Given the description of an element on the screen output the (x, y) to click on. 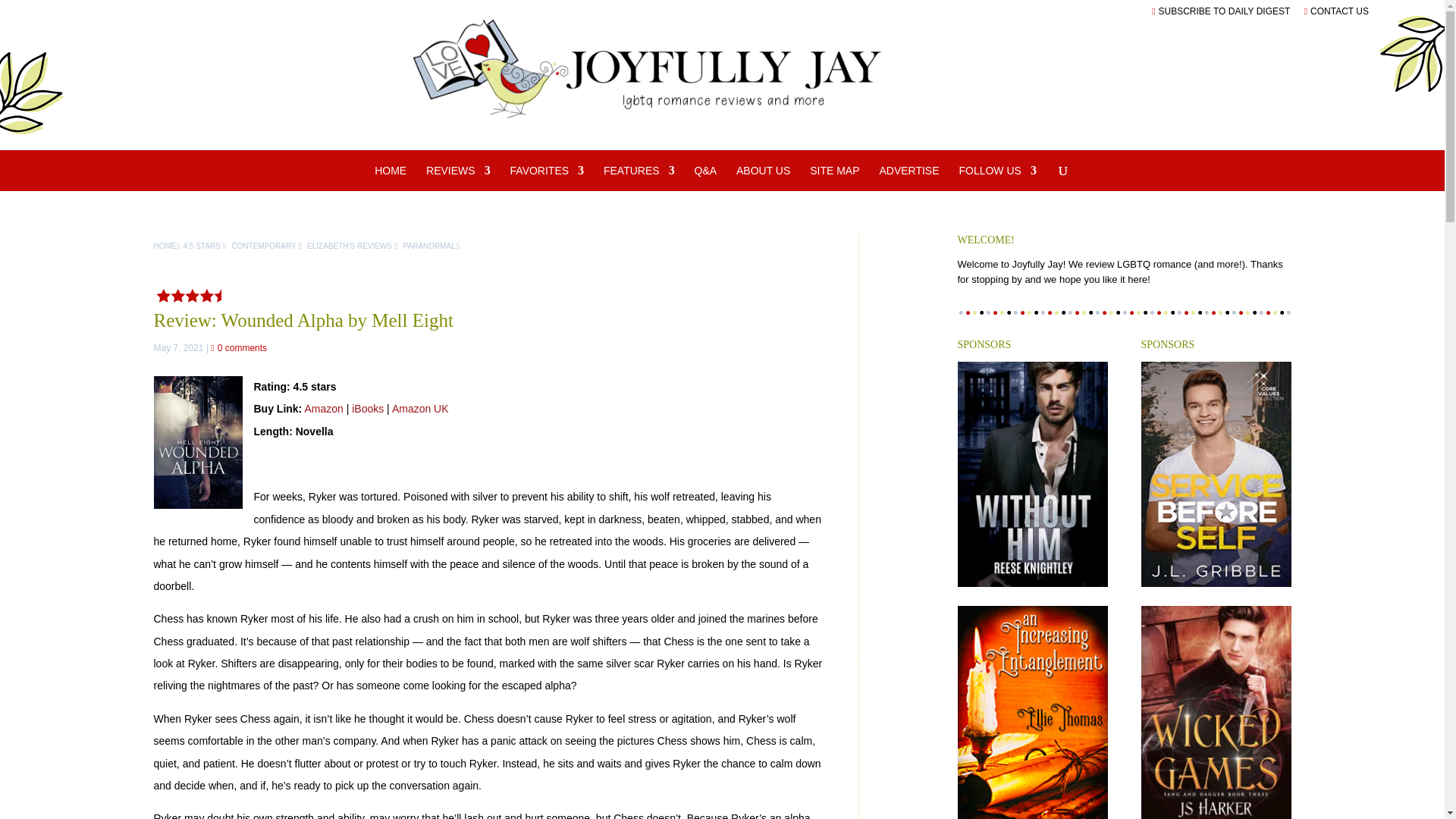
REVIEWS (458, 177)
CONTACT US (1336, 10)
SUBSCRIBE TO DAILY DIGEST (1220, 10)
HOME (390, 177)
